Given the description of an element on the screen output the (x, y) to click on. 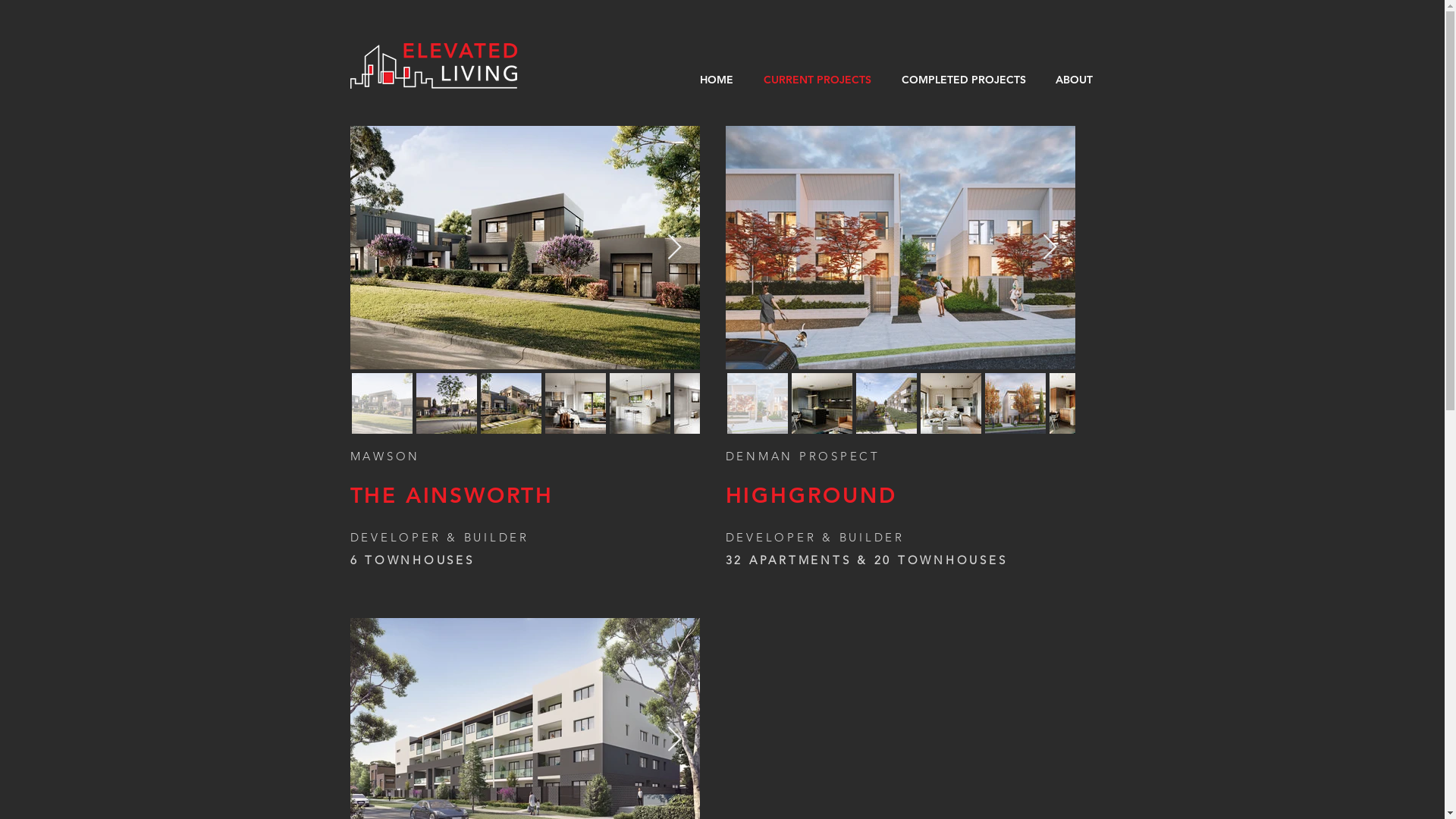
ABOUT Element type: text (1073, 79)
CURRENT PROJECTS Element type: text (816, 79)
COMPLETED PROJECTS Element type: text (962, 79)
HOME Element type: text (715, 79)
